Given the description of an element on the screen output the (x, y) to click on. 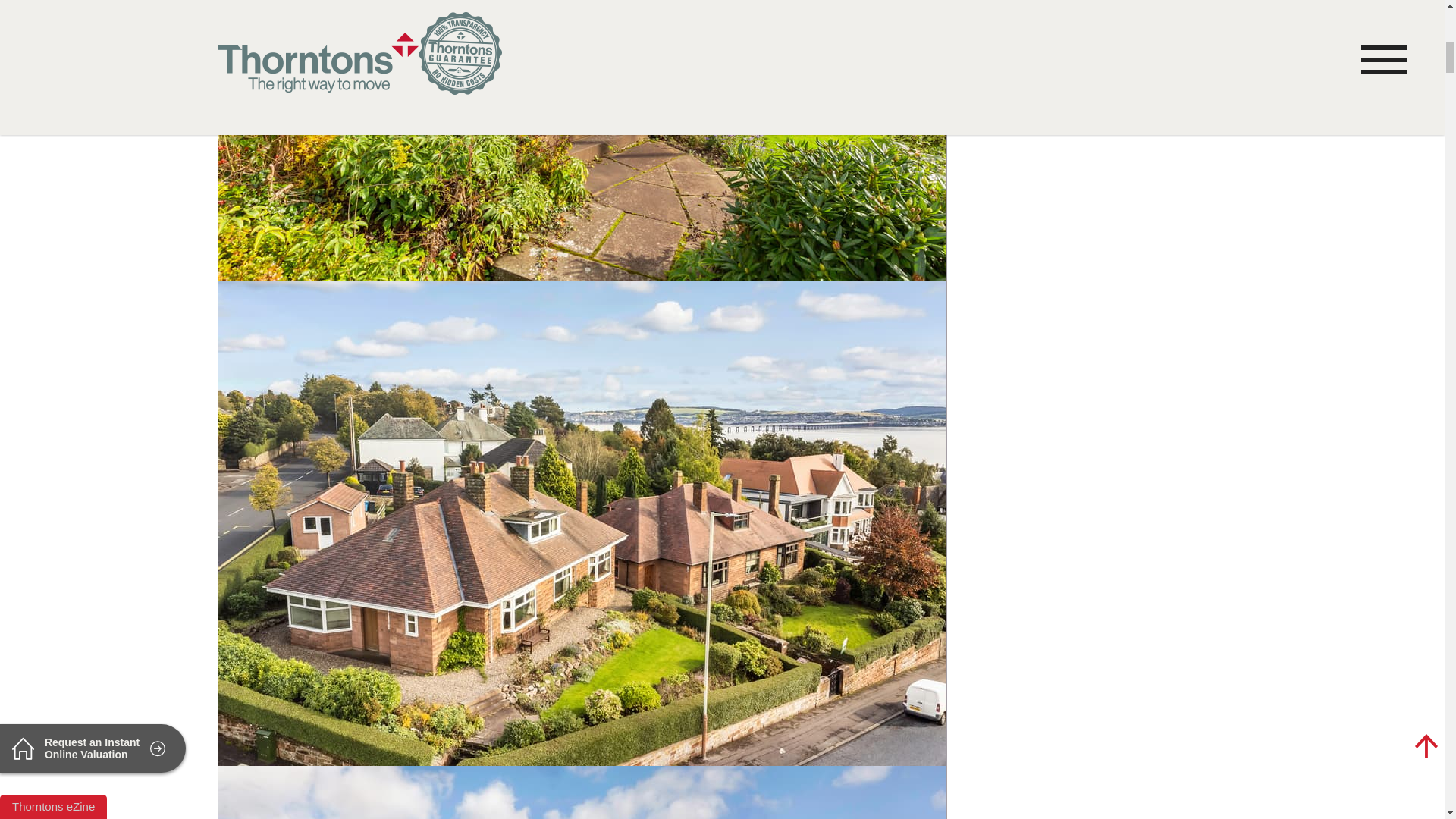
Picture 4 of 24 (582, 792)
